Given the description of an element on the screen output the (x, y) to click on. 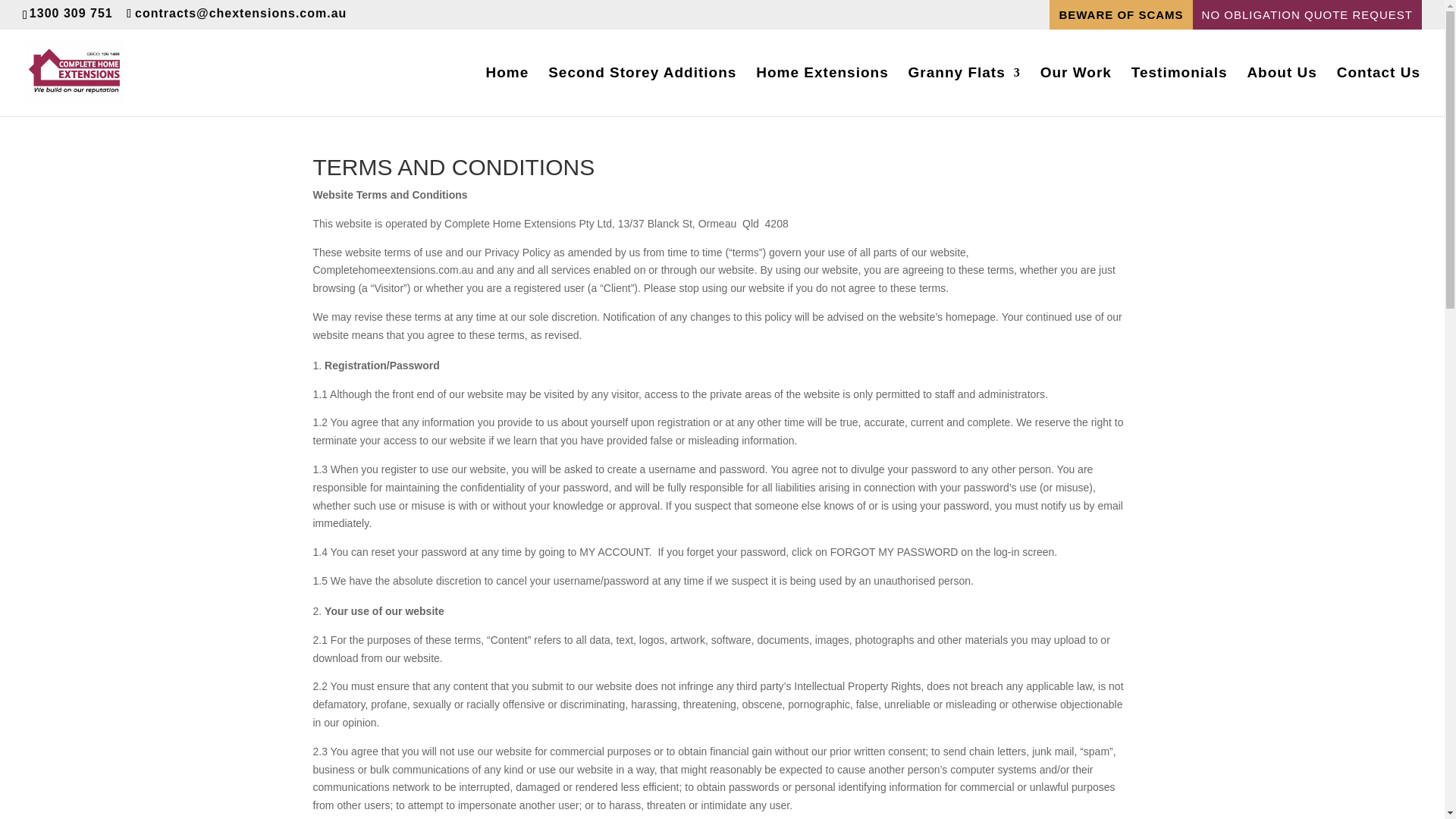
Testimonials (1179, 91)
Granny Flats (964, 91)
Home Extensions (821, 91)
Contact Us (1378, 91)
About Us (1281, 91)
Second Storey Additions (642, 91)
Our Work (1076, 91)
Home (506, 91)
NO OBLIGATION QUOTE REQUEST (1307, 14)
BEWARE OF SCAMS (1120, 14)
